Given the description of an element on the screen output the (x, y) to click on. 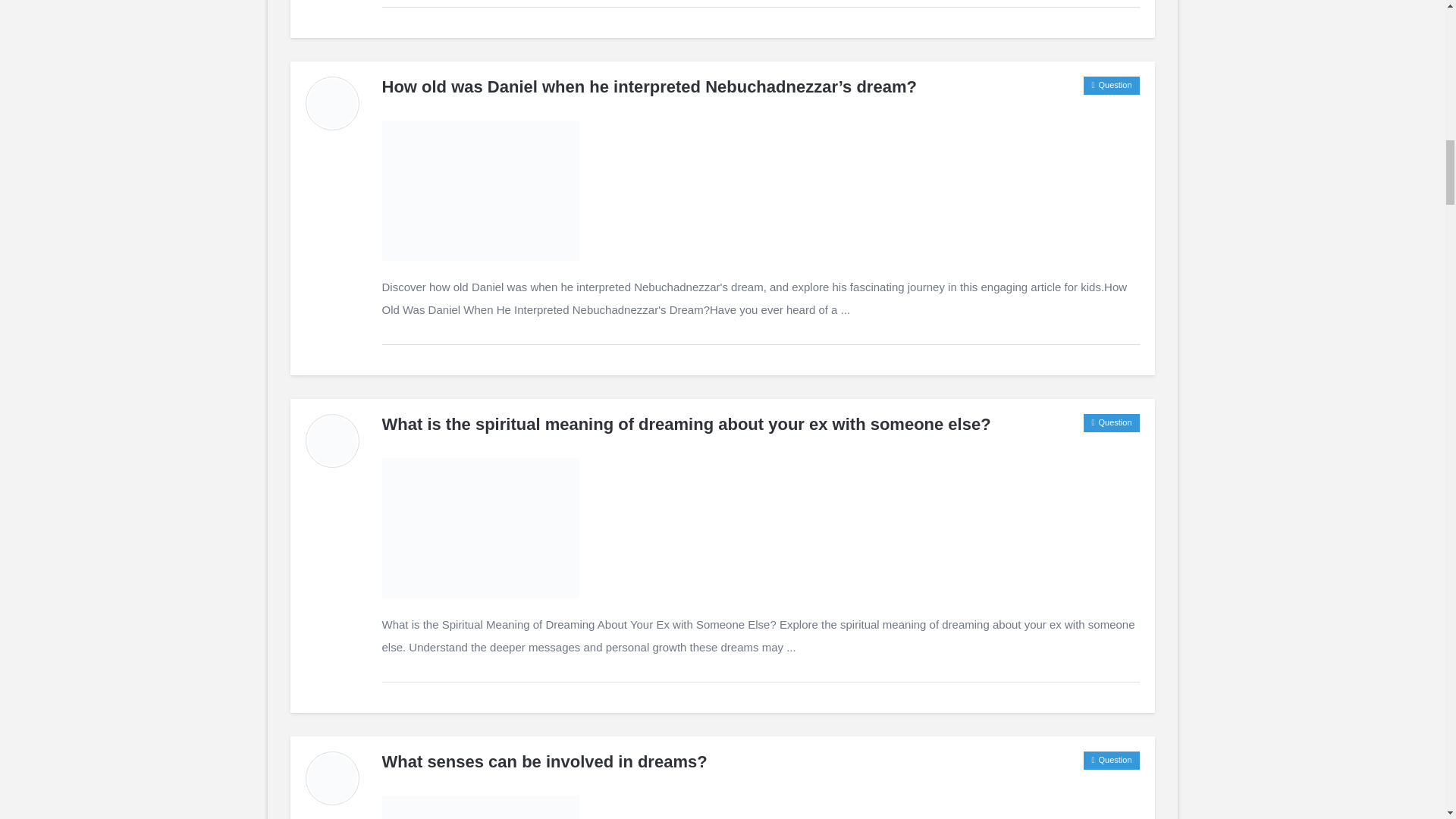
What senses can be involved in dreams? (544, 761)
